Given the description of an element on the screen output the (x, y) to click on. 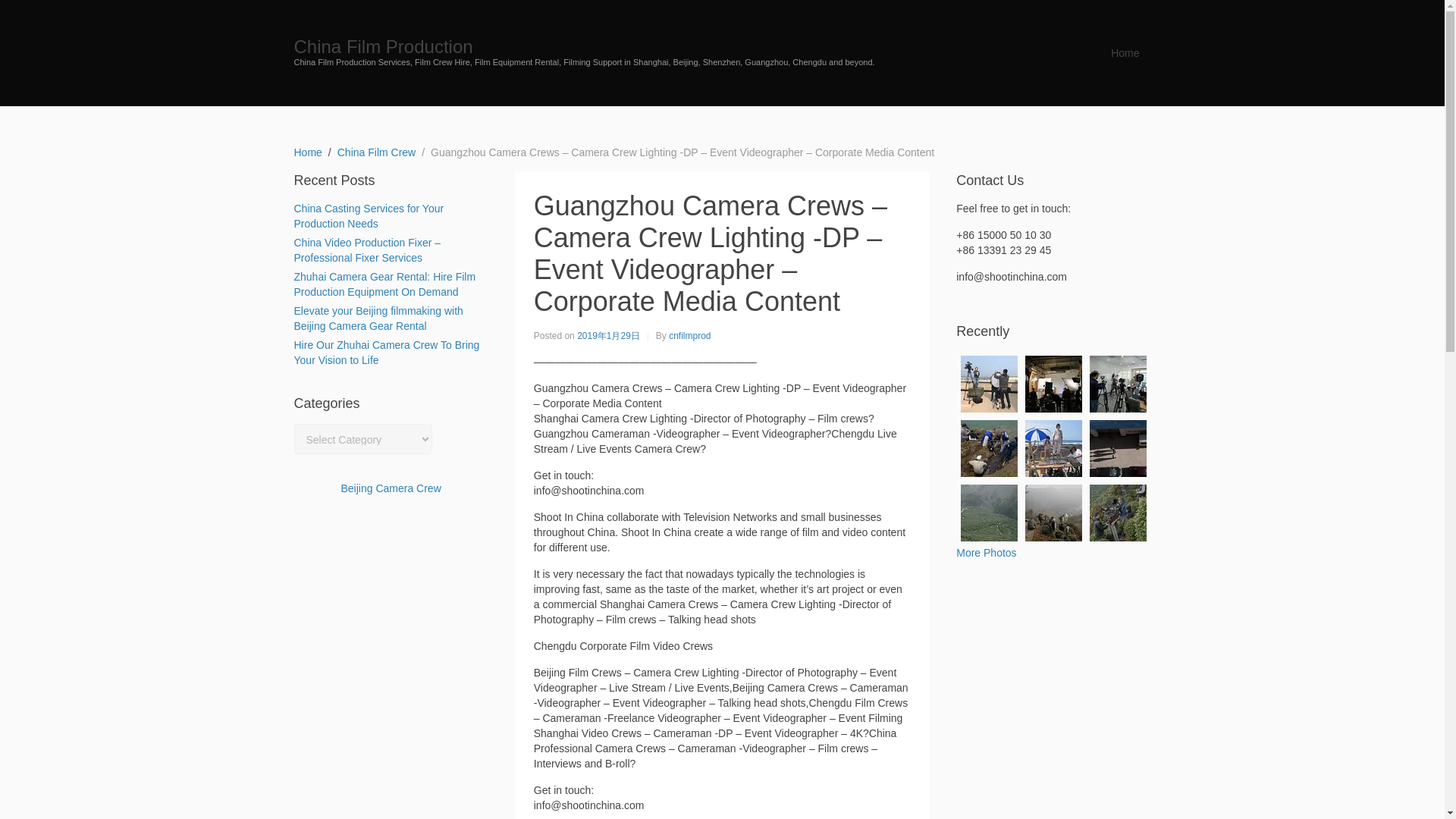
China Film Crew (375, 151)
Kids Walking Alley (1118, 448)
Home (307, 151)
Hire Our Zhuhai Camera Crew To Bring Your Vision to Life (387, 352)
More Photos (986, 552)
Home (1124, 52)
cnfilmprod (689, 336)
China Film Production (383, 46)
Beijing Camera Crew (390, 488)
